Given the description of an element on the screen output the (x, y) to click on. 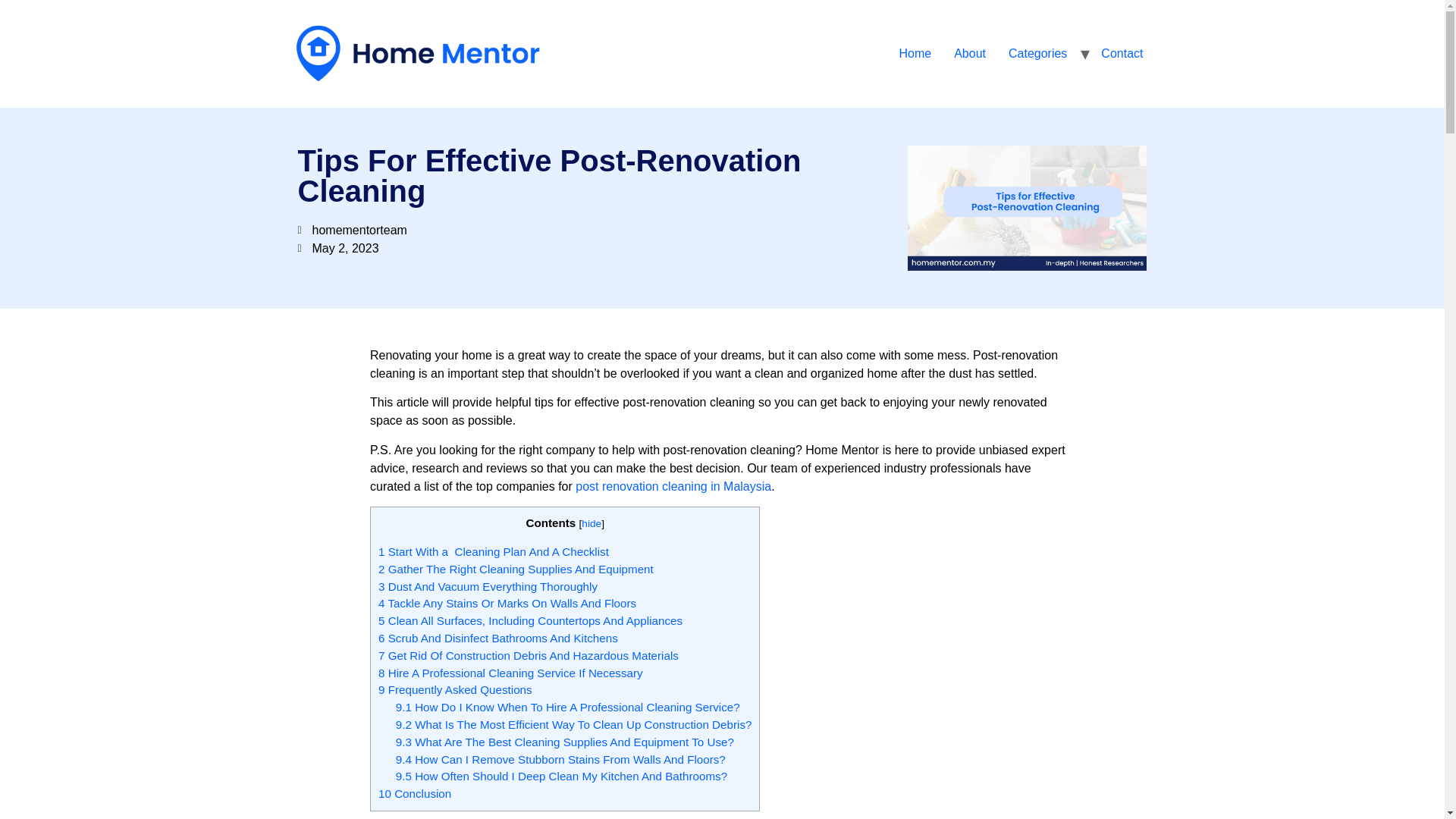
Categories (1037, 53)
About (969, 53)
Home (914, 53)
Contact (1121, 53)
